Given the description of an element on the screen output the (x, y) to click on. 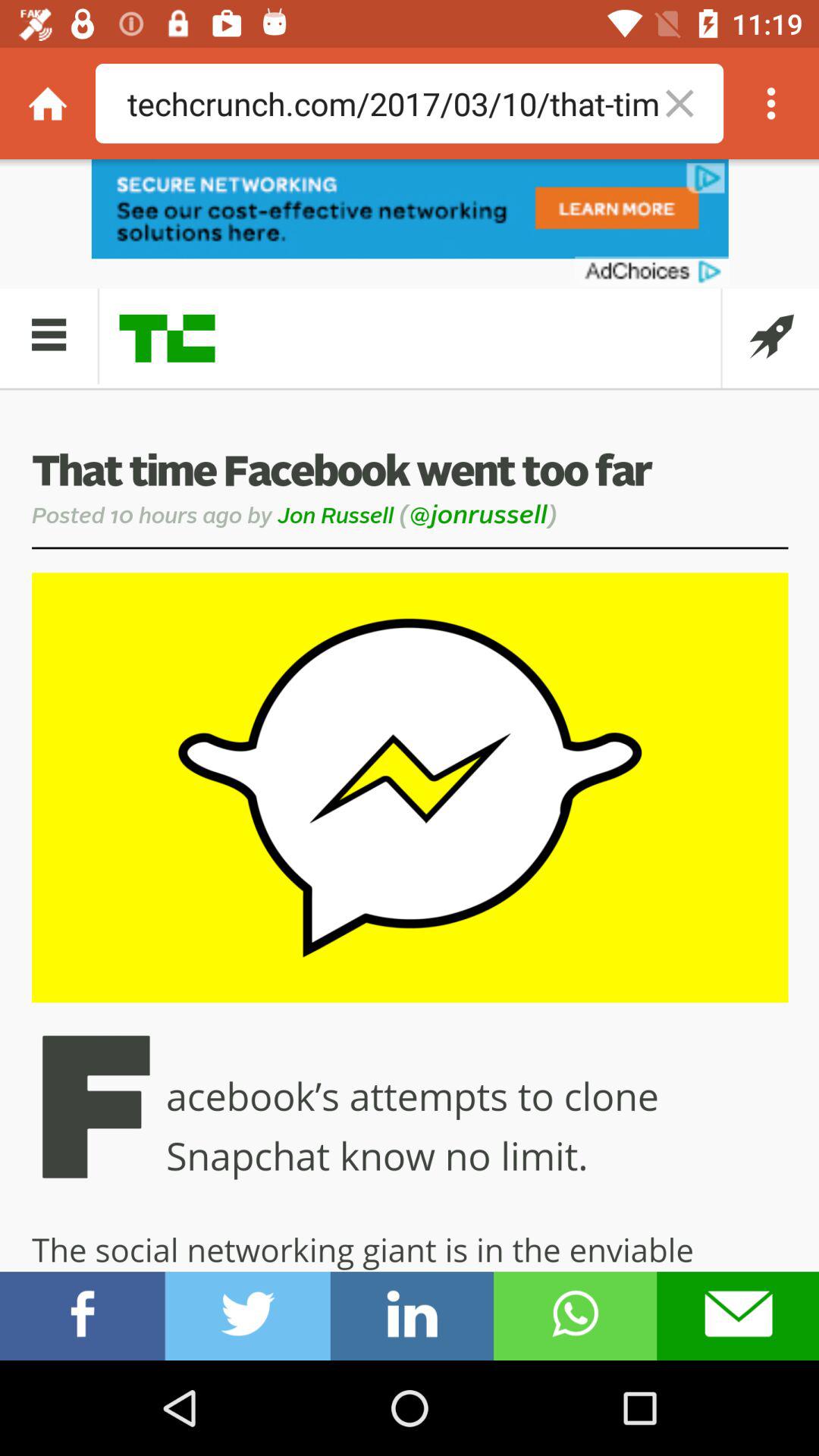
go to homepage (47, 103)
